Given the description of an element on the screen output the (x, y) to click on. 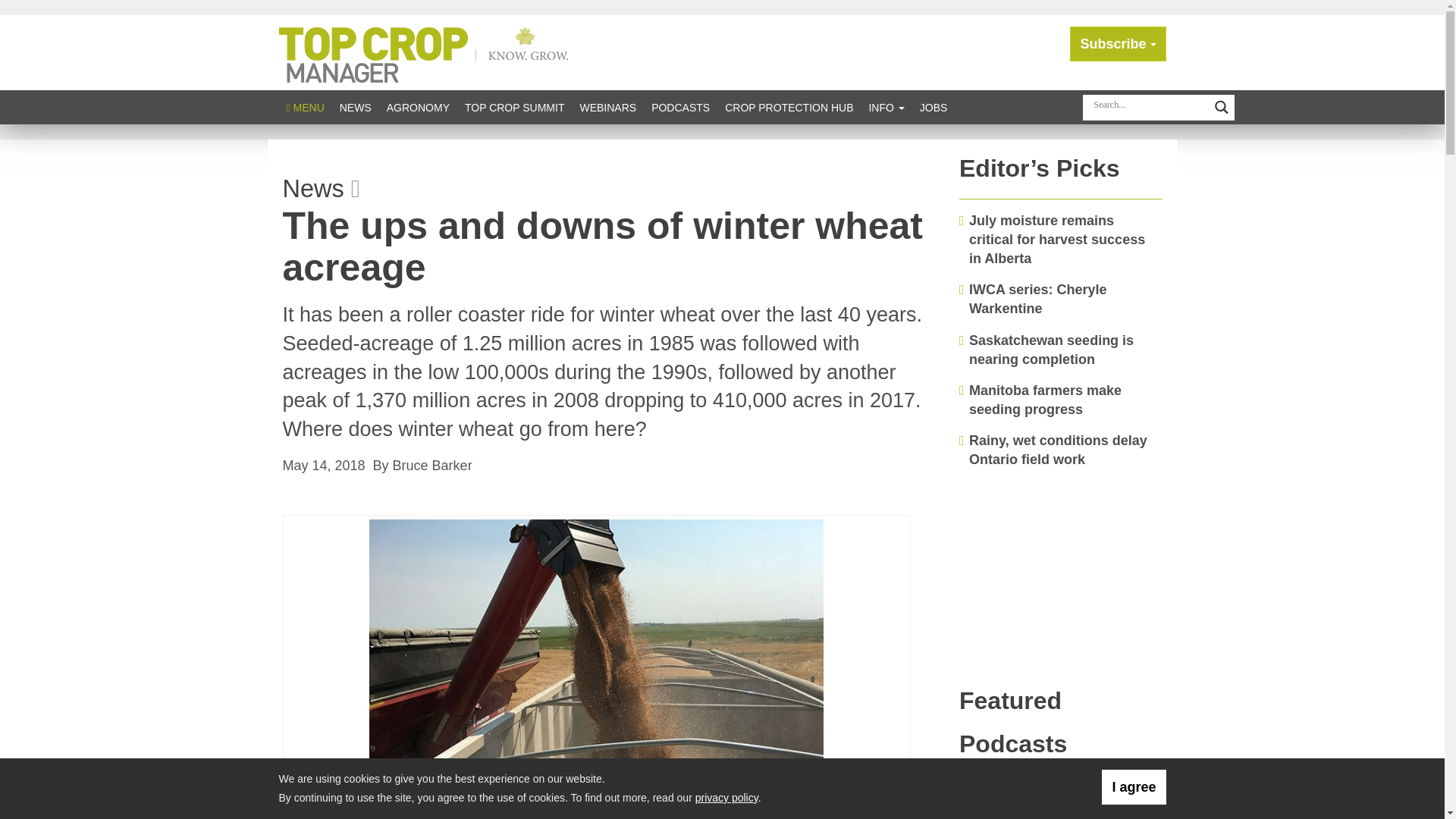
3rd party ad content (1060, 576)
CROP PROTECTION HUB (788, 107)
PODCASTS (680, 107)
JOBS (933, 107)
NEWS (354, 107)
TOP CROP SUMMIT (514, 107)
AGRONOMY (417, 107)
MENU (305, 107)
Subscribe (1118, 43)
INFO (885, 107)
Click to show site navigation (305, 107)
Top Crop Manager (427, 51)
WEBINARS (607, 107)
